Given the description of an element on the screen output the (x, y) to click on. 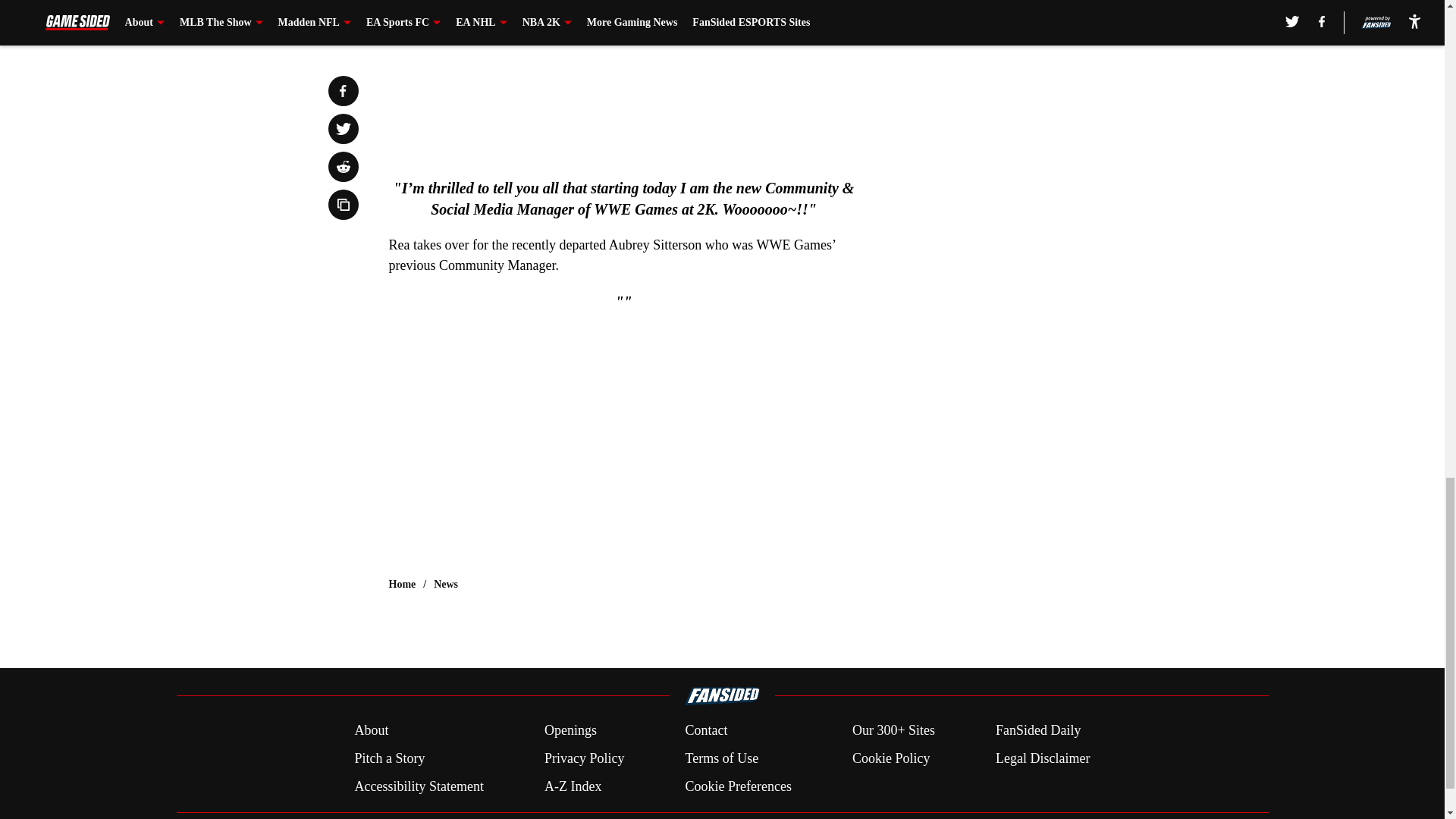
Contact (705, 730)
Home (401, 584)
Terms of Use (721, 758)
Cookie Policy (890, 758)
Legal Disclaimer (1042, 758)
Privacy Policy (584, 758)
Openings (570, 730)
Pitch a Story (389, 758)
About (370, 730)
News (445, 584)
